Given the description of an element on the screen output the (x, y) to click on. 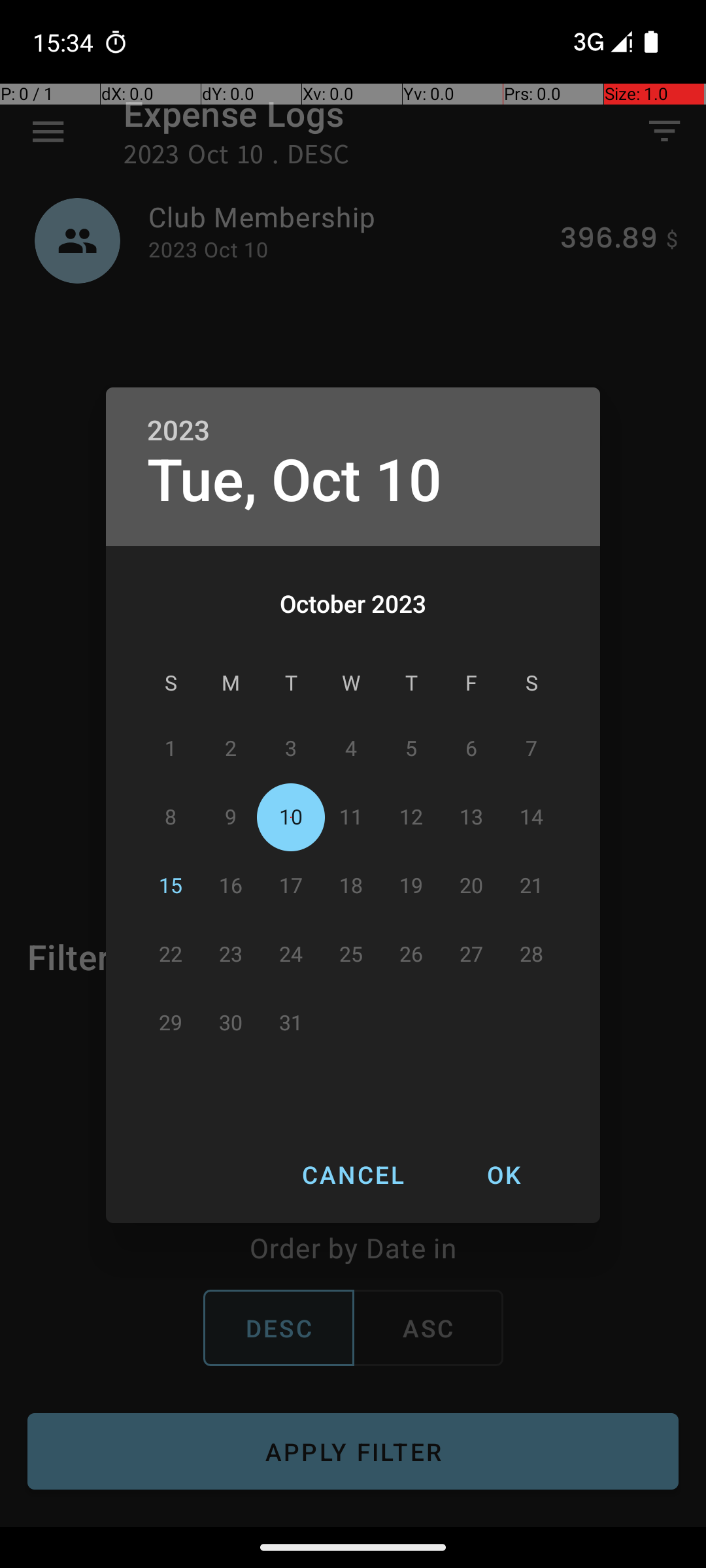
Tue, Oct 10 Element type: android.widget.TextView (294, 480)
